Given the description of an element on the screen output the (x, y) to click on. 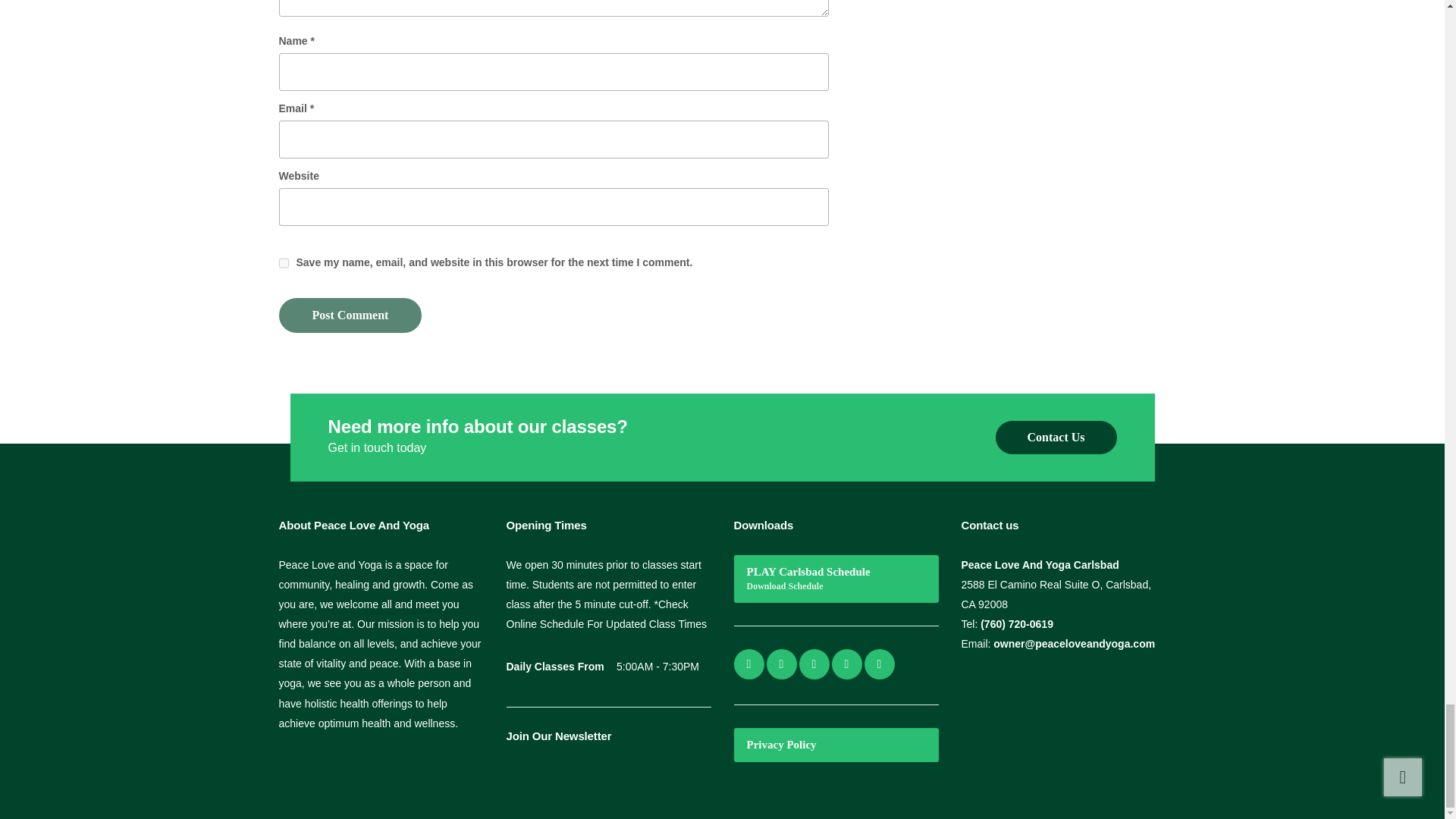
yes (283, 262)
Post Comment (350, 315)
Post Comment (350, 315)
